Given the description of an element on the screen output the (x, y) to click on. 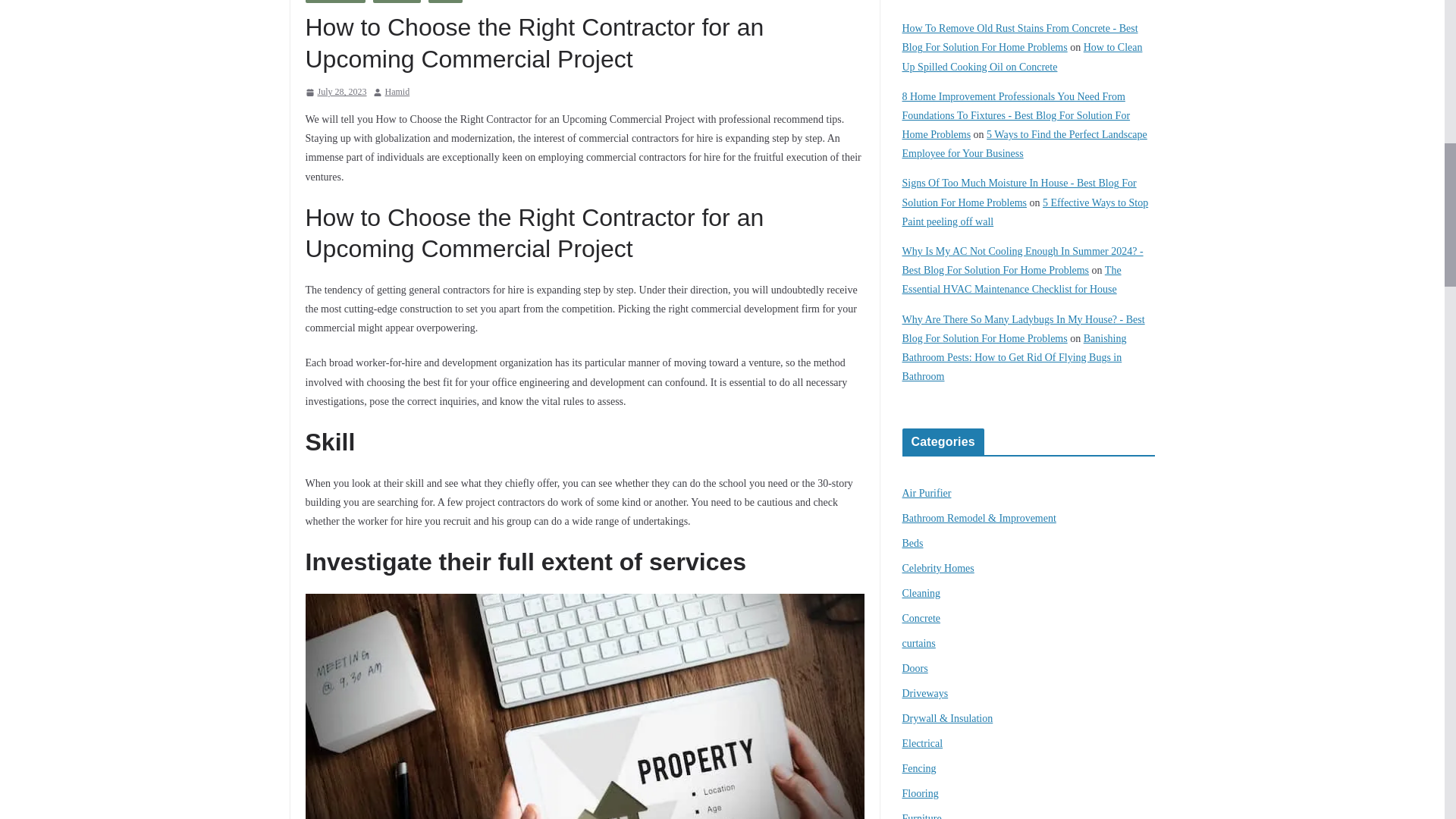
MORE (445, 1)
Hamid (397, 92)
11:00 pm (335, 92)
Hamid (397, 92)
July 28, 2023 (335, 92)
GENERAL (396, 1)
REAL ESTATE (334, 1)
